Given the description of an element on the screen output the (x, y) to click on. 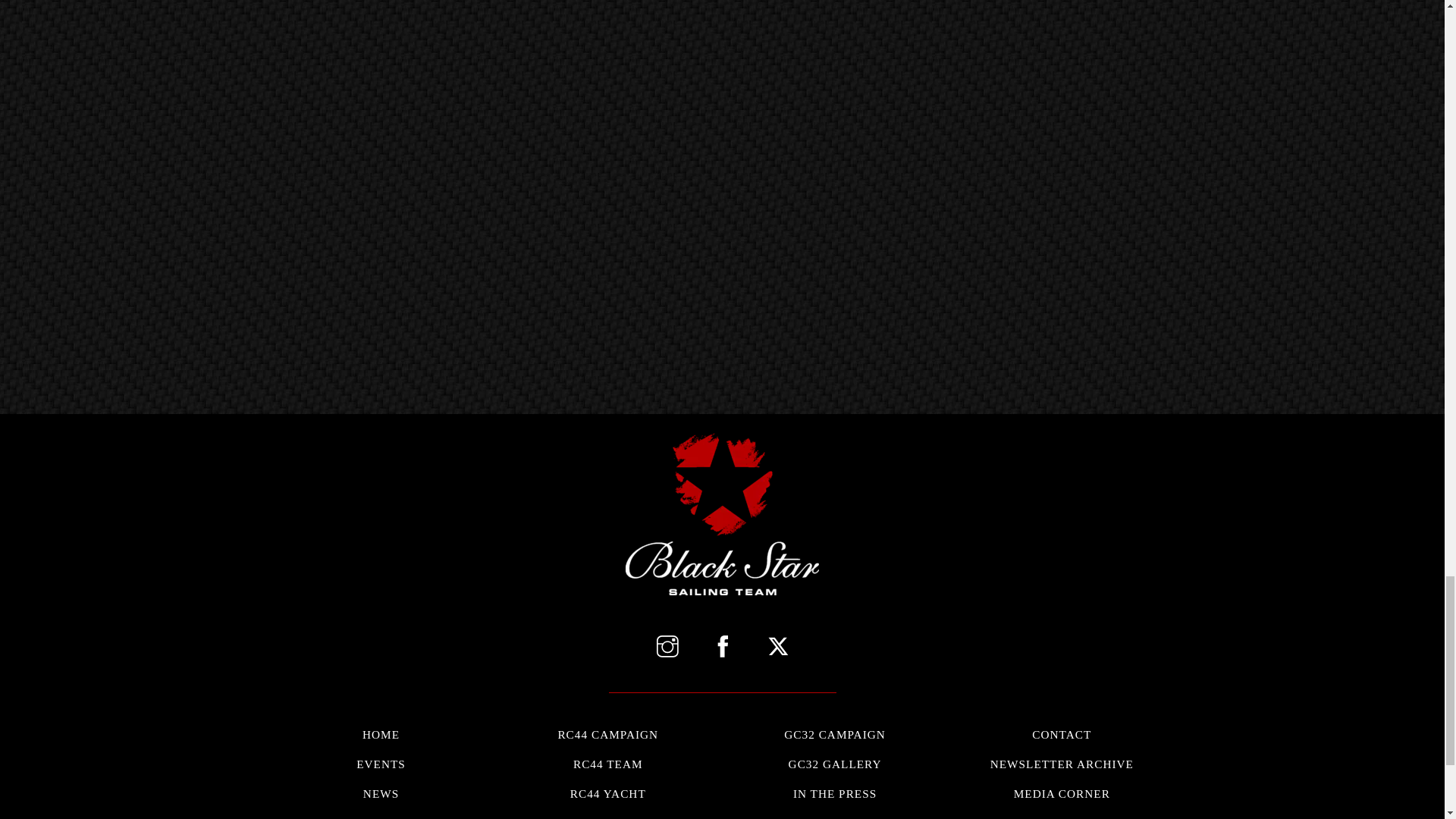
PARTNER (380, 813)
RC44 TEAM (607, 763)
HOME (380, 734)
RC44 CAMPAIGN (607, 734)
FACEBOOK (721, 647)
INSTAGRAM (380, 769)
RC44 YACHT (666, 647)
